Given the description of an element on the screen output the (x, y) to click on. 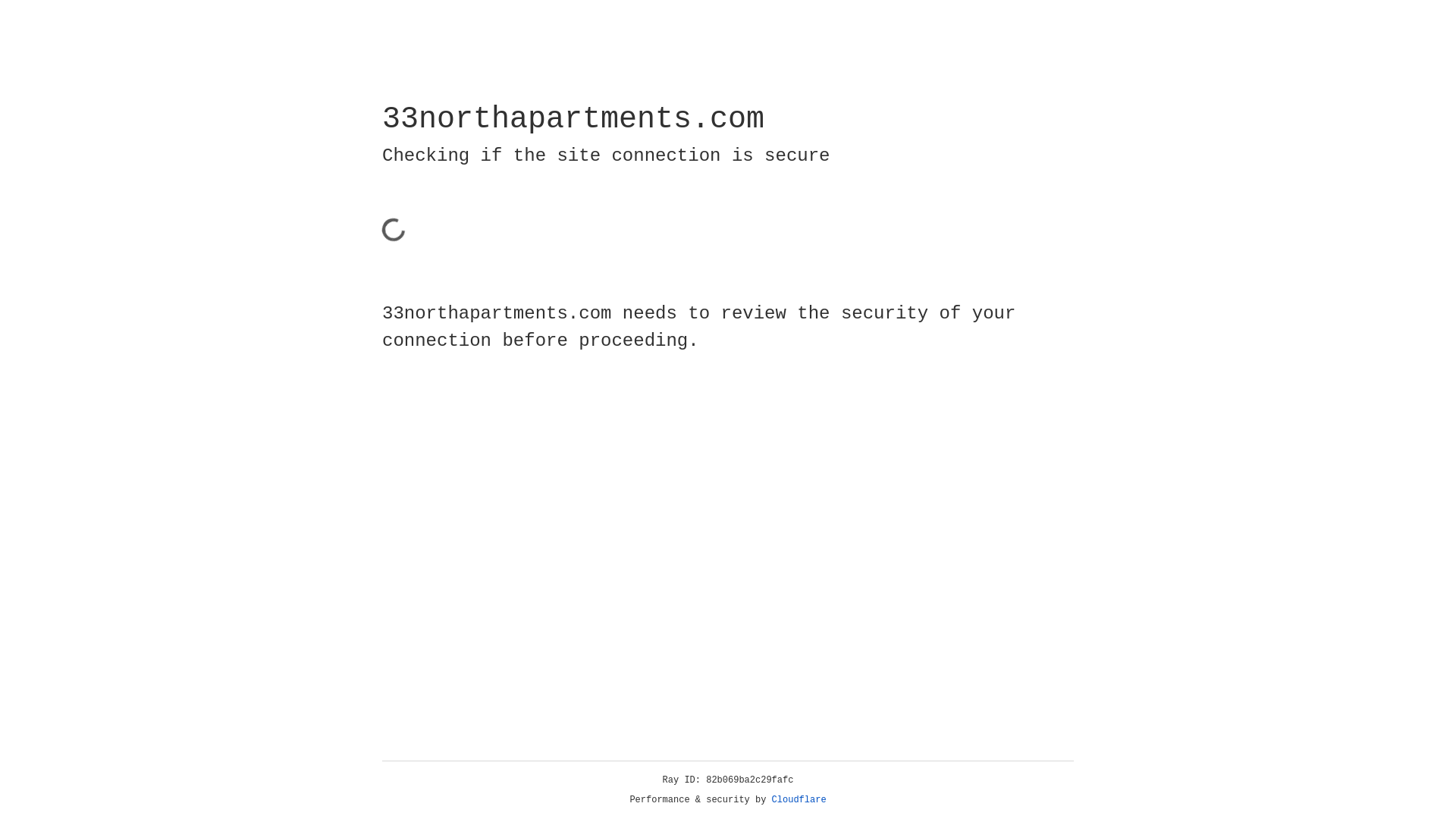
Cloudflare Element type: text (798, 799)
